Given the description of an element on the screen output the (x, y) to click on. 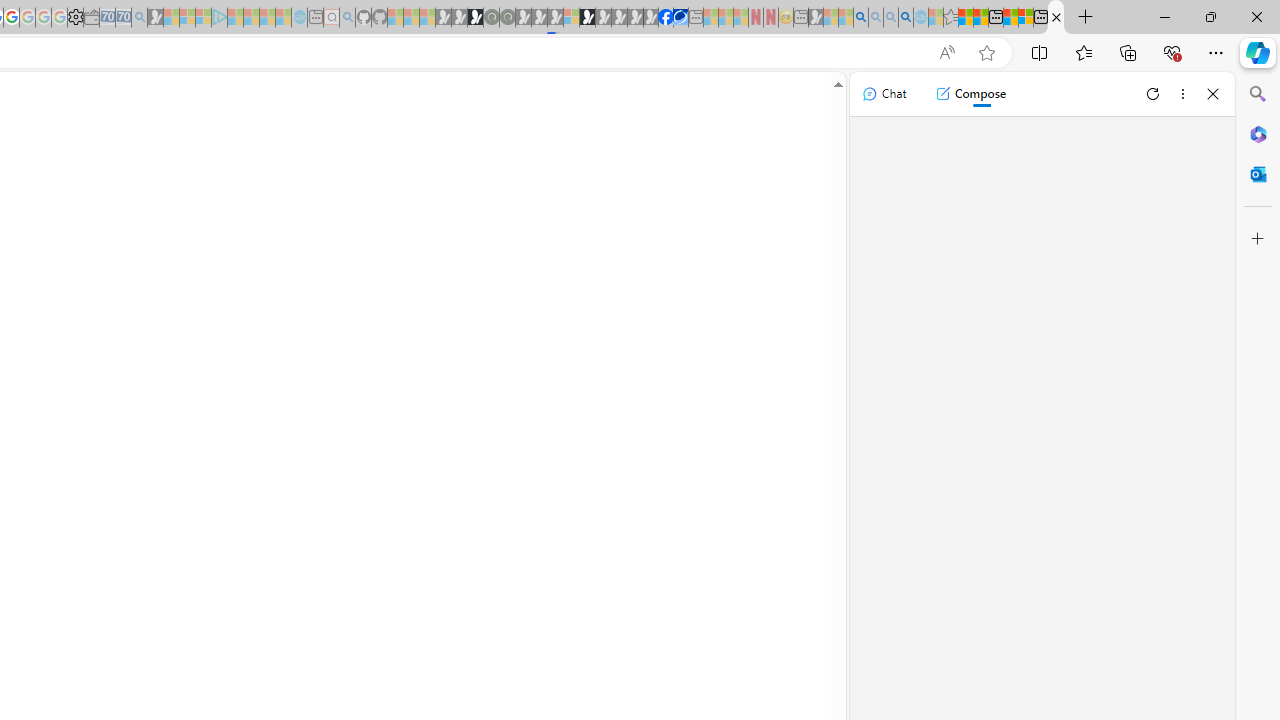
Aberdeen, Hong Kong SAR weather forecast | Microsoft Weather (981, 17)
Favorites - Sleeping (950, 17)
Wallet - Sleeping (91, 17)
Google Chrome Internet Browser Download - Search Images (905, 17)
MSN - Sleeping (816, 17)
